Given the description of an element on the screen output the (x, y) to click on. 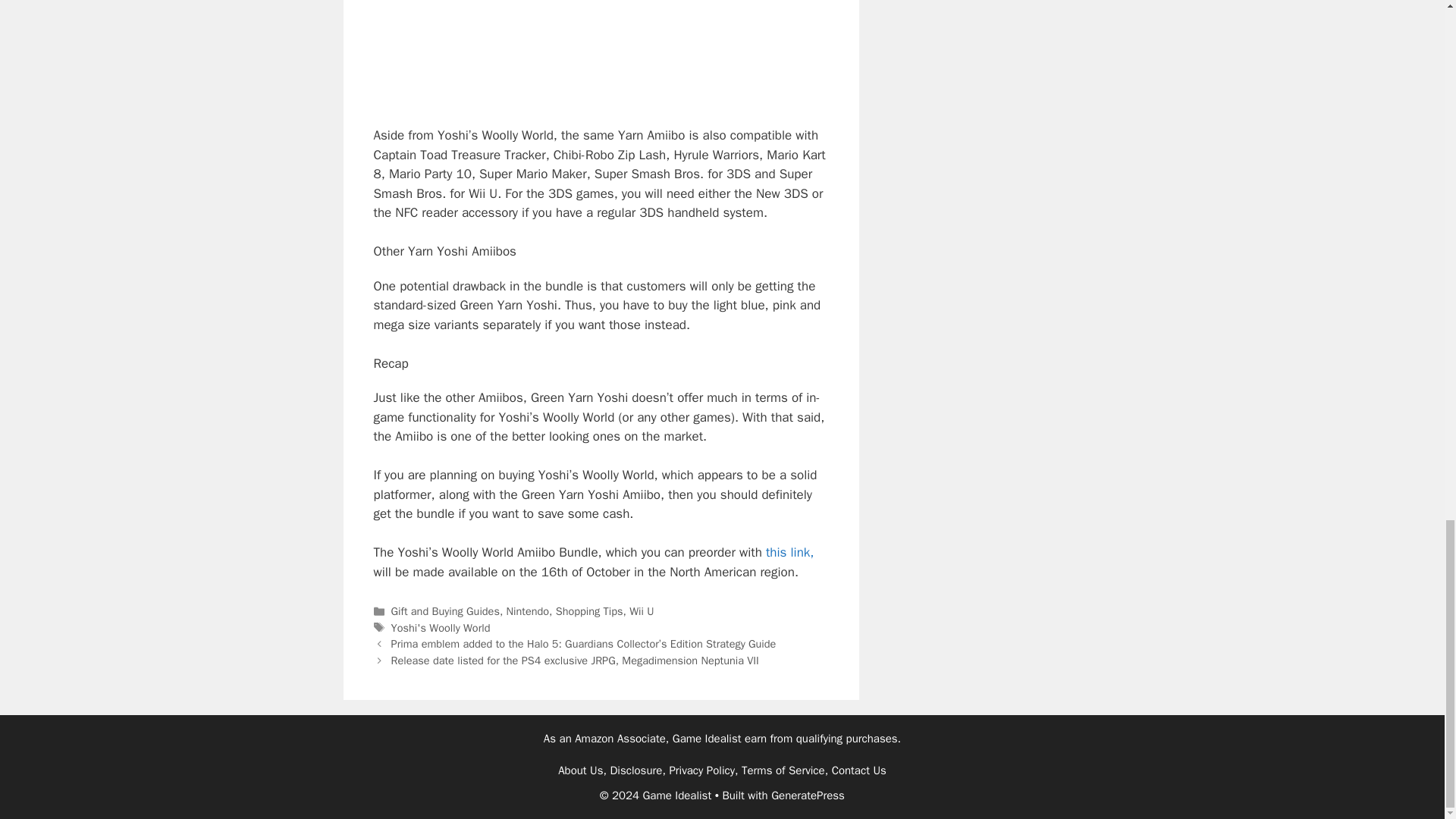
Nintendo (528, 611)
Terms of Service, (784, 770)
About Us, (582, 770)
Disclosure, (637, 770)
Gift and Buying Guides (445, 611)
Shopping Tips (589, 611)
GeneratePress (807, 795)
Privacy Policy, (703, 770)
Wii U (640, 611)
Yoshi's Woolly World (440, 627)
this link, (789, 552)
Contact Us (858, 770)
